Given the description of an element on the screen output the (x, y) to click on. 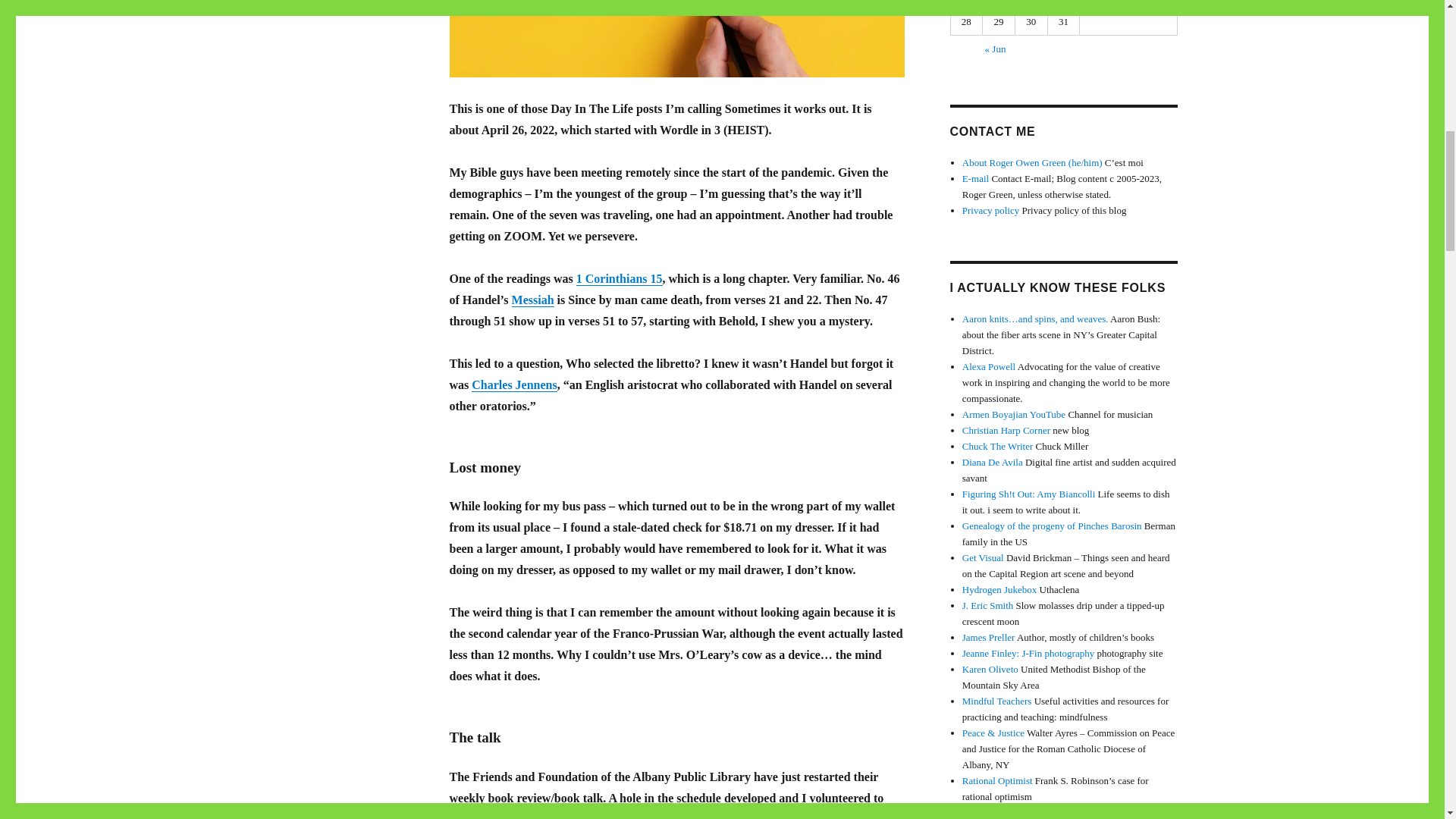
Channel for musician (1013, 414)
1 Corinthians 15 (619, 277)
Charles Jennens (513, 383)
Privacy policy of this blog (990, 210)
The Color of Law (550, 816)
Chuck Miller (997, 446)
Messiah (533, 298)
new blog (1005, 430)
